Given the description of an element on the screen output the (x, y) to click on. 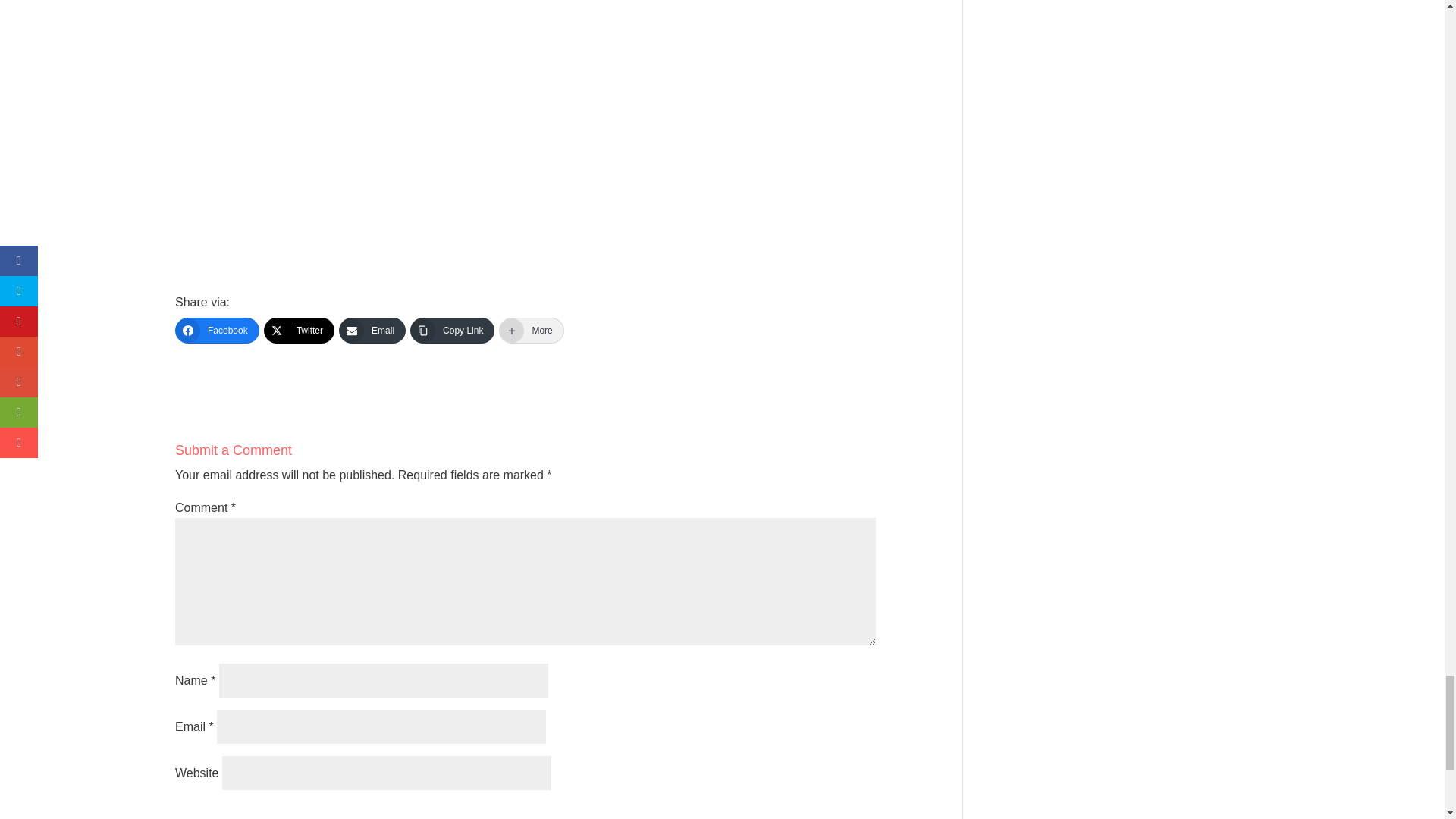
25p (524, 104)
